Given the description of an element on the screen output the (x, y) to click on. 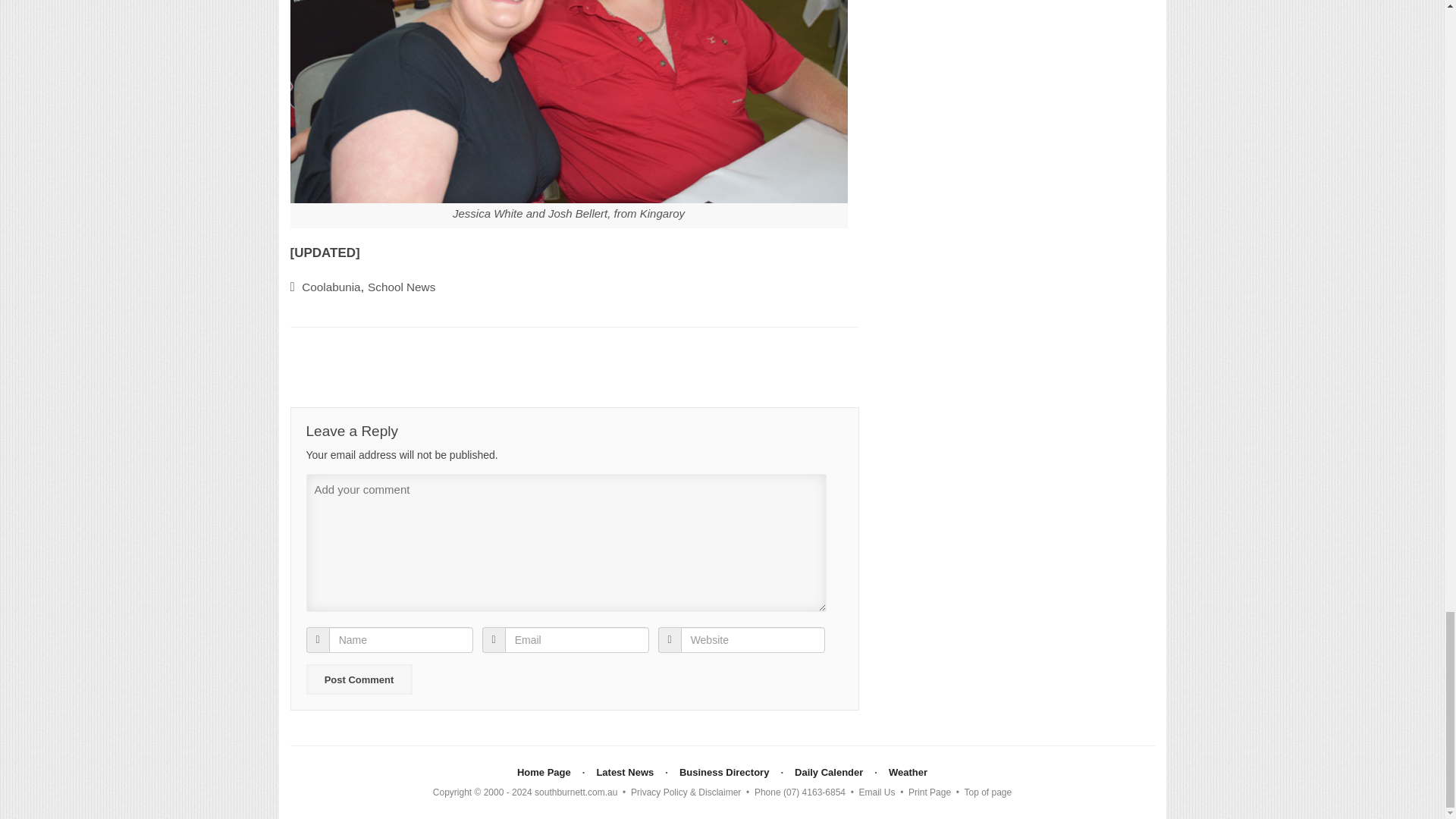
Post Comment (358, 679)
